Given the description of an element on the screen output the (x, y) to click on. 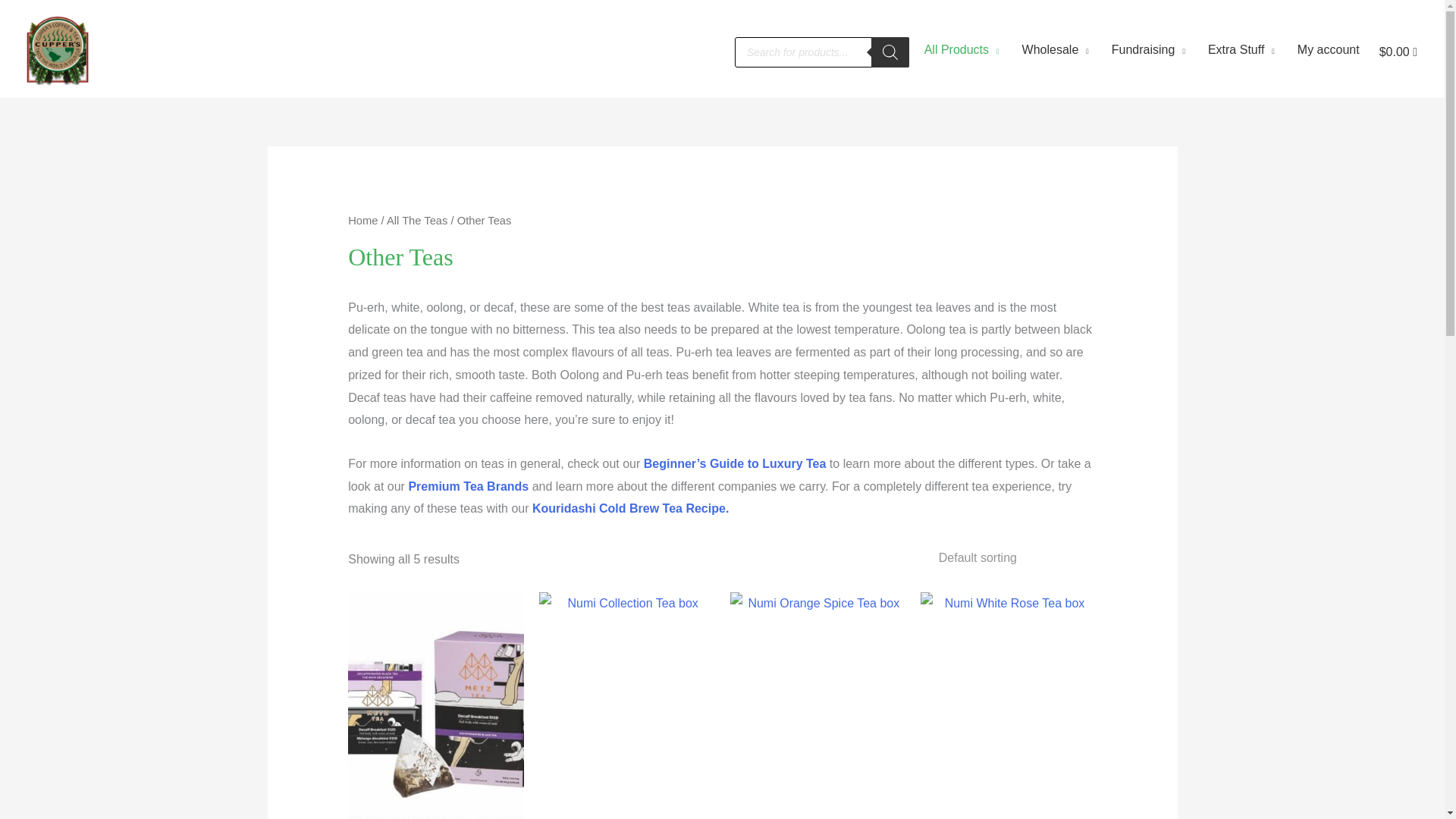
All Products (957, 52)
